Given the description of an element on the screen output the (x, y) to click on. 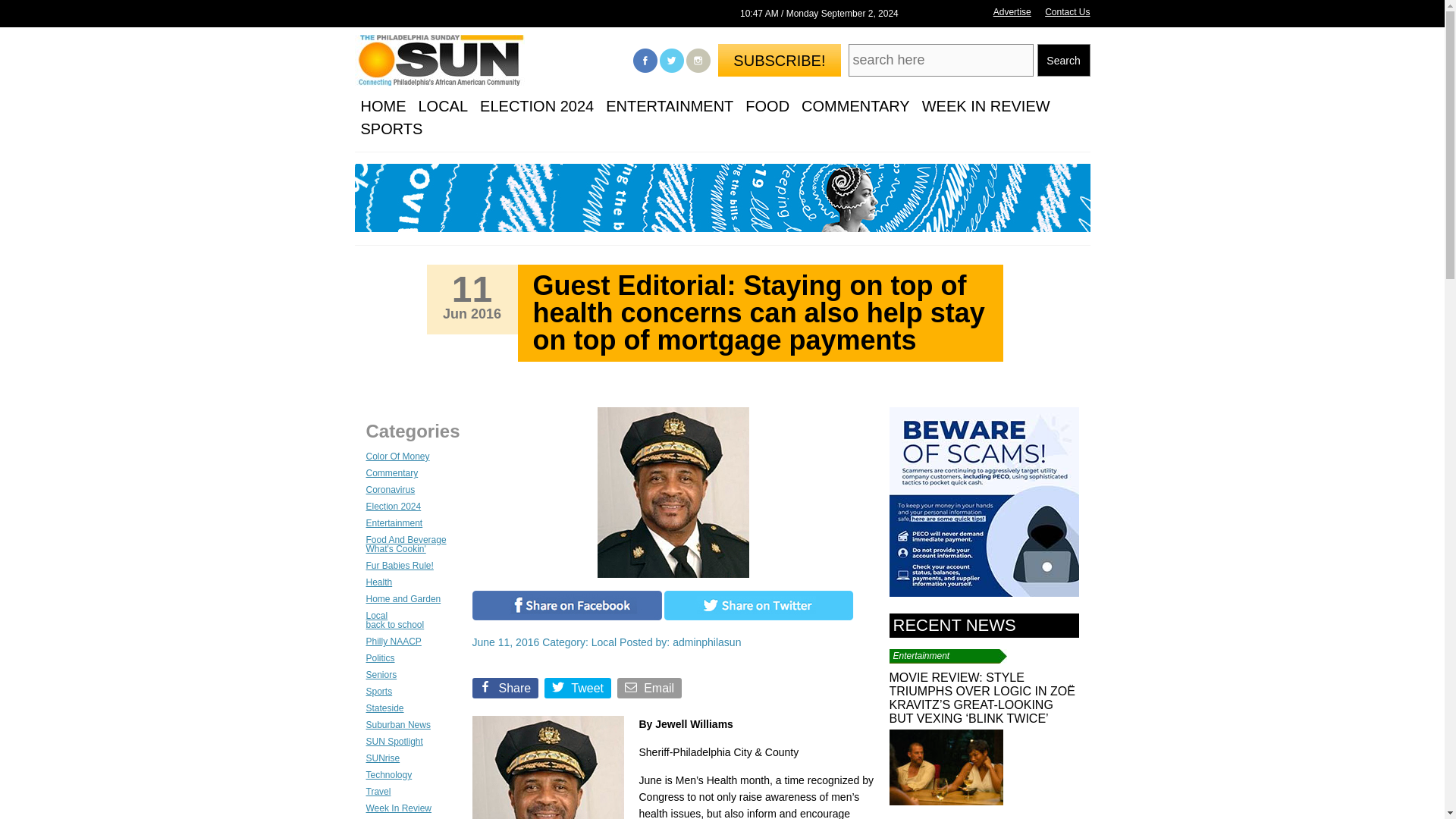
Email (650, 691)
LOCAL (443, 106)
instagram (697, 60)
Share on Twitter (758, 616)
Advertise (1011, 11)
Search (1063, 60)
COMMENTARY (854, 106)
FOOD (766, 106)
HOME (383, 106)
ELECTION 2024 (536, 106)
